Given the description of an element on the screen output the (x, y) to click on. 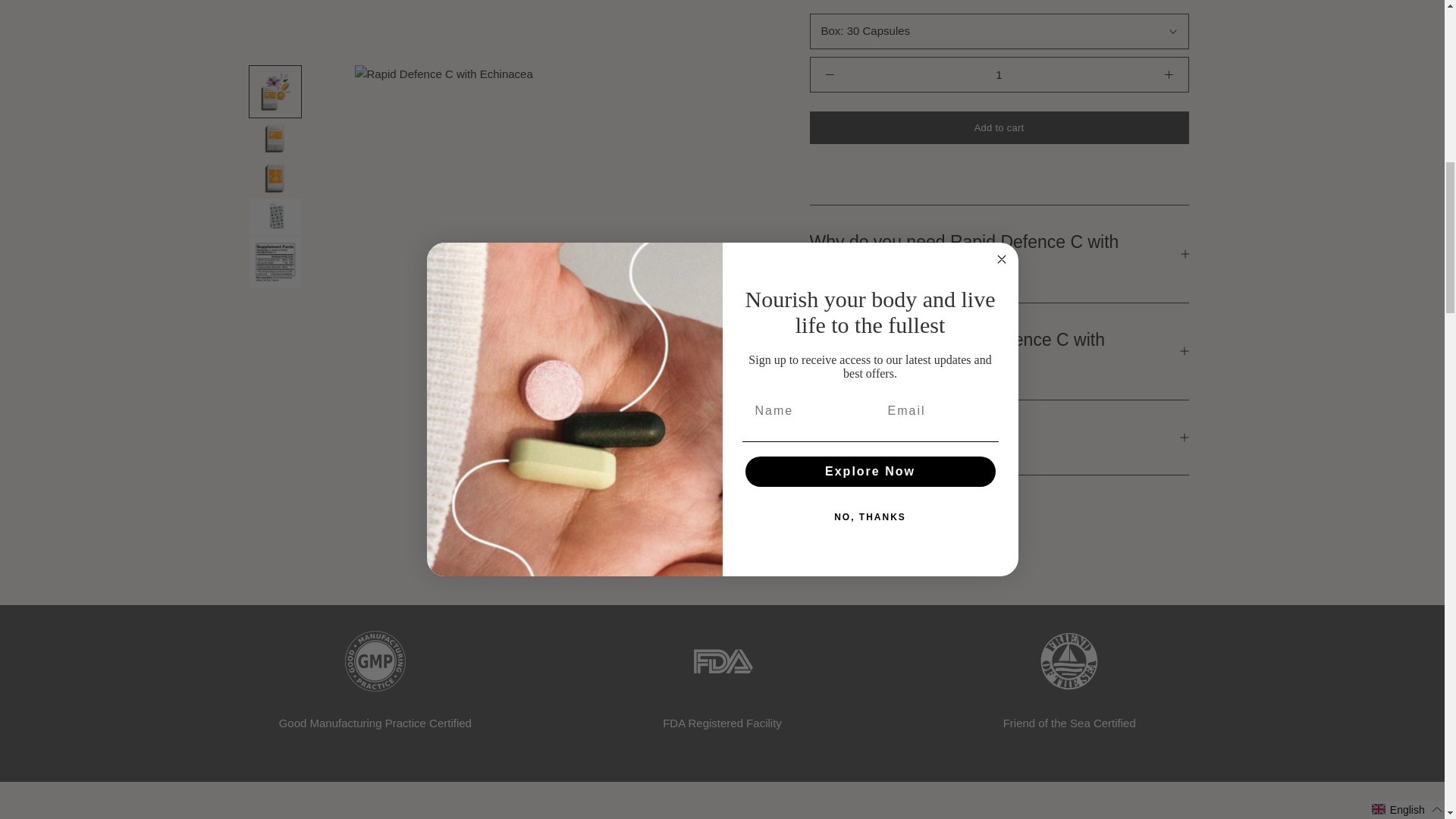
1 (999, 74)
